Given the description of an element on the screen output the (x, y) to click on. 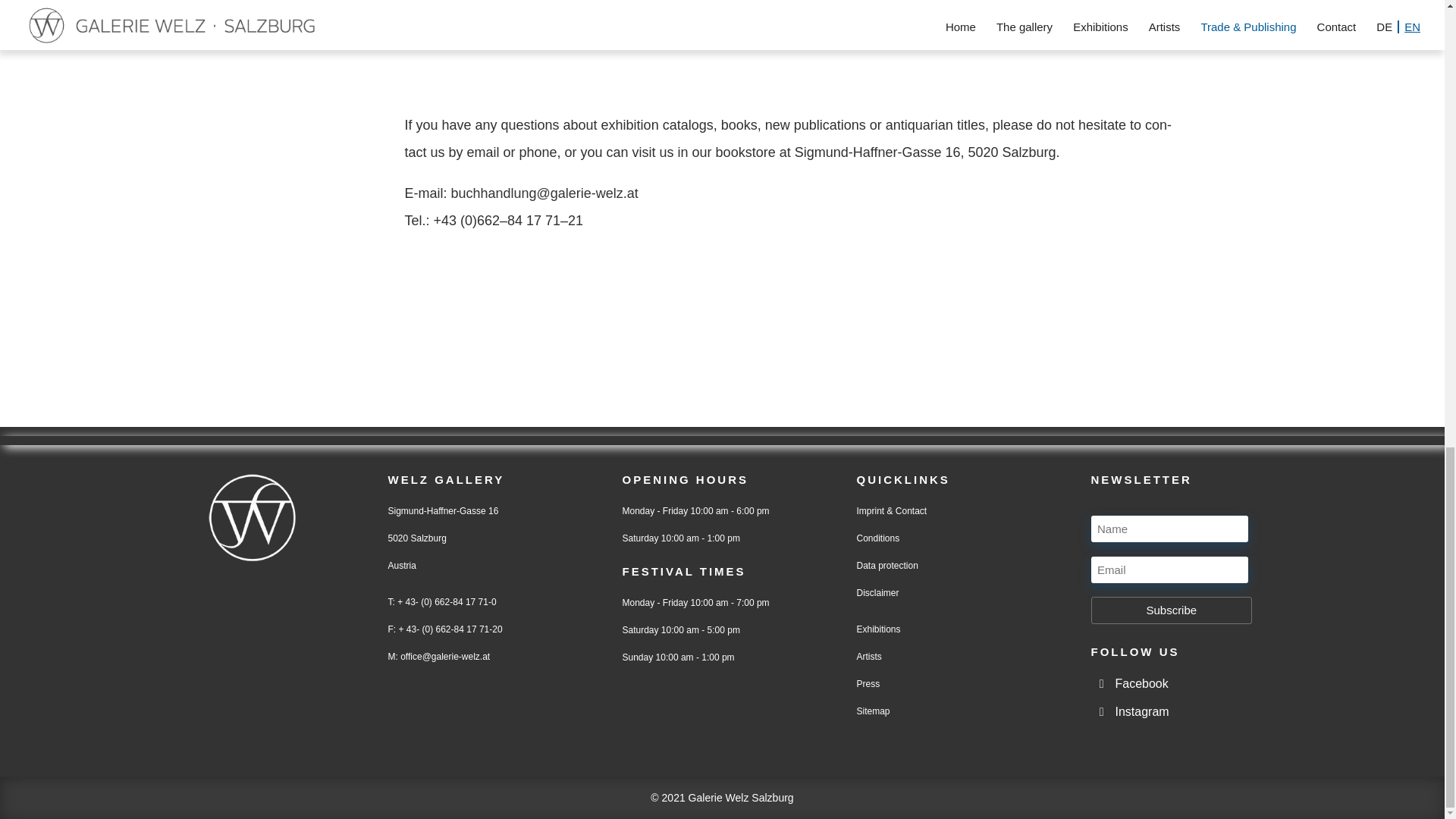
Imprint of Galerie Welz (892, 511)
Terms of Service (878, 538)
Phone contact gallery (445, 602)
Artist archive (869, 656)
Data protection of the Galerie Welz (887, 565)
Disclaimer from Galerie Welz (878, 593)
Gallery Welz fax connection (449, 629)
